Given the description of an element on the screen output the (x, y) to click on. 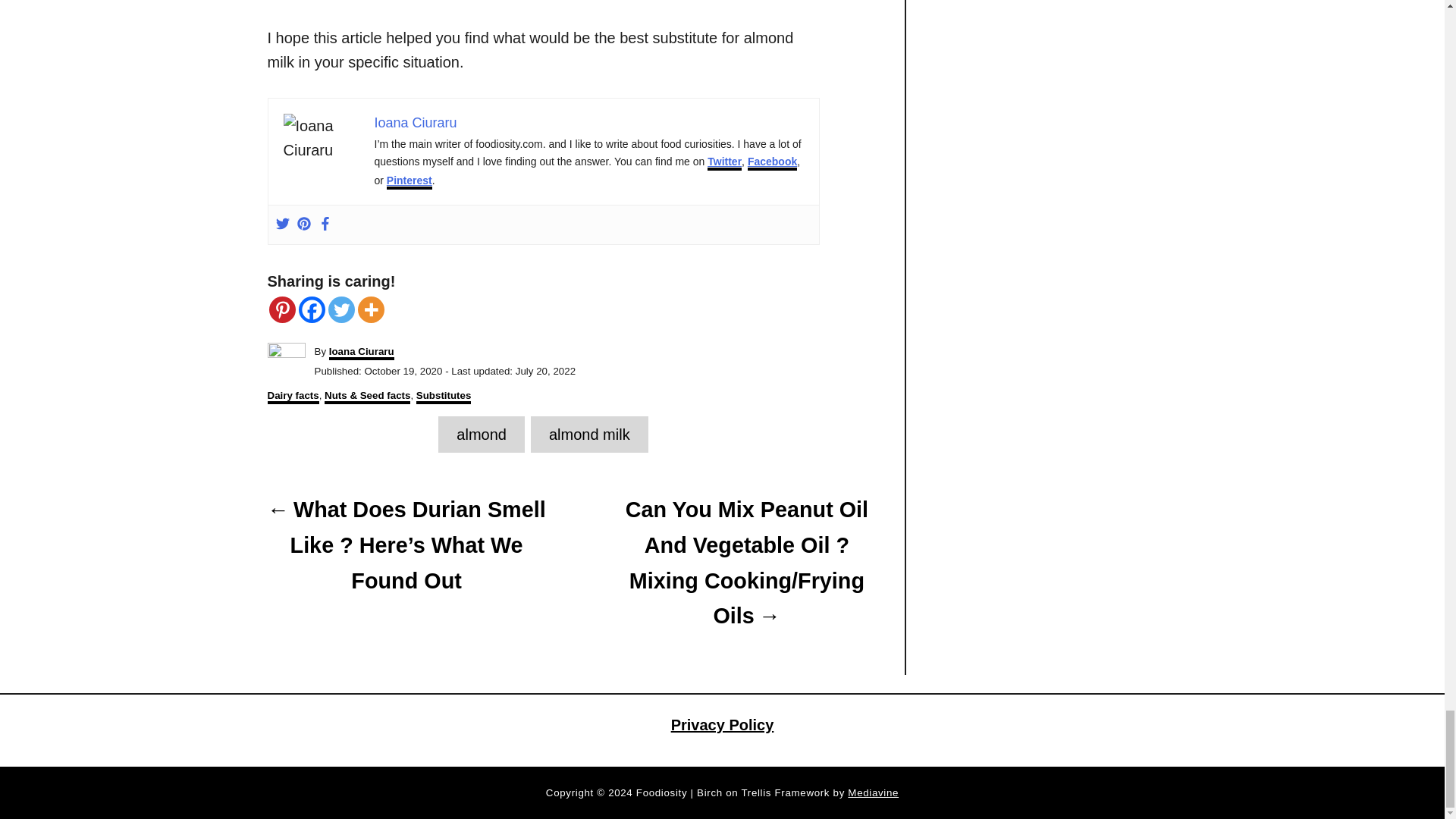
More (371, 309)
Pinterest (281, 309)
Twitter (340, 309)
Facebook (311, 309)
